Given the description of an element on the screen output the (x, y) to click on. 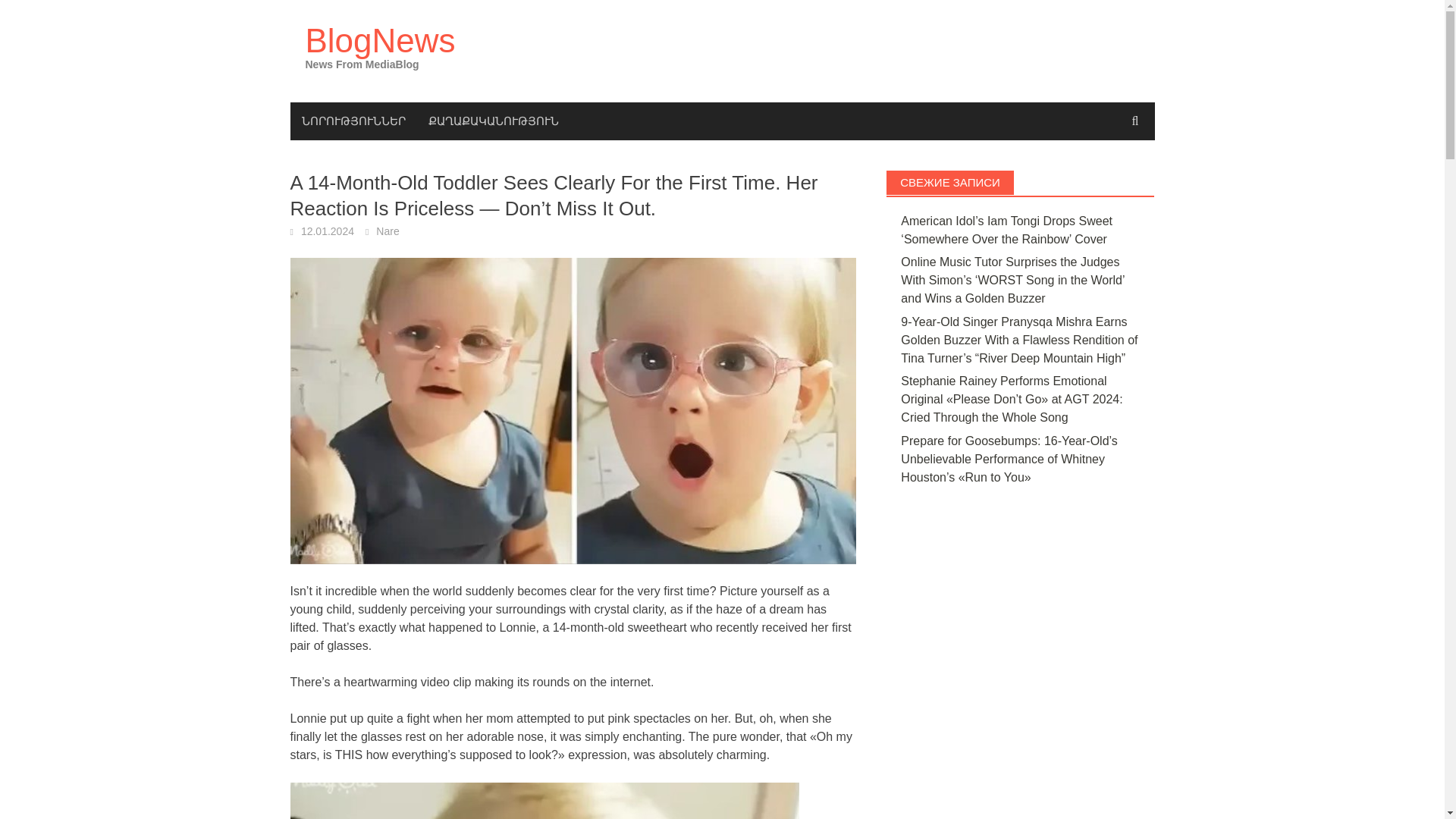
12.01.2024 (327, 231)
BlogNews (379, 40)
Nare (386, 231)
